Given the description of an element on the screen output the (x, y) to click on. 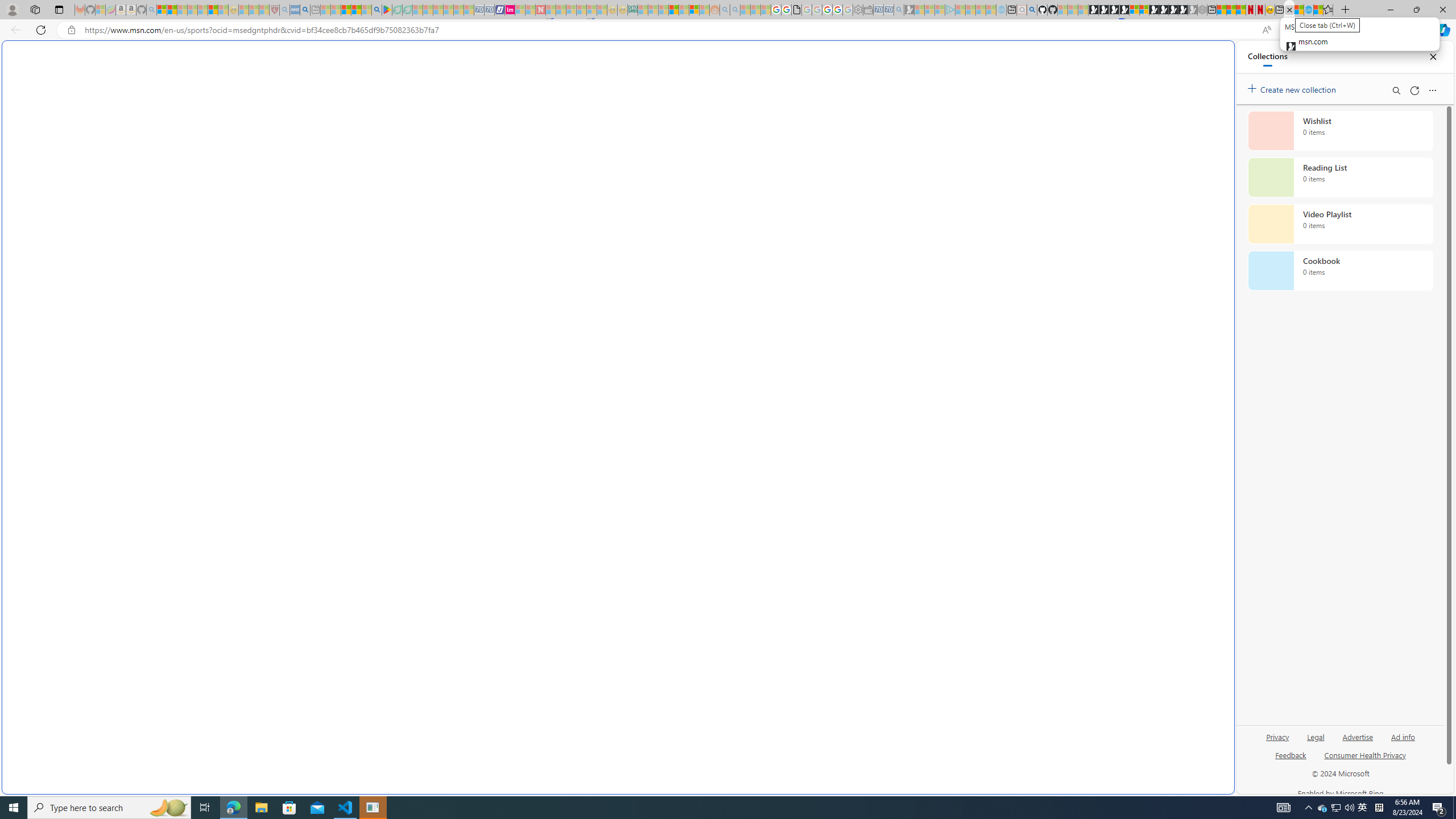
Tabs you've opened (885, 151)
utah sues federal government - Search (304, 9)
Overview (1144, 9)
Jobs - lastminute.com Investor Portal (509, 9)
Frequently visited (965, 151)
Reading List collection, 0 items (1339, 177)
